Given the description of an element on the screen output the (x, y) to click on. 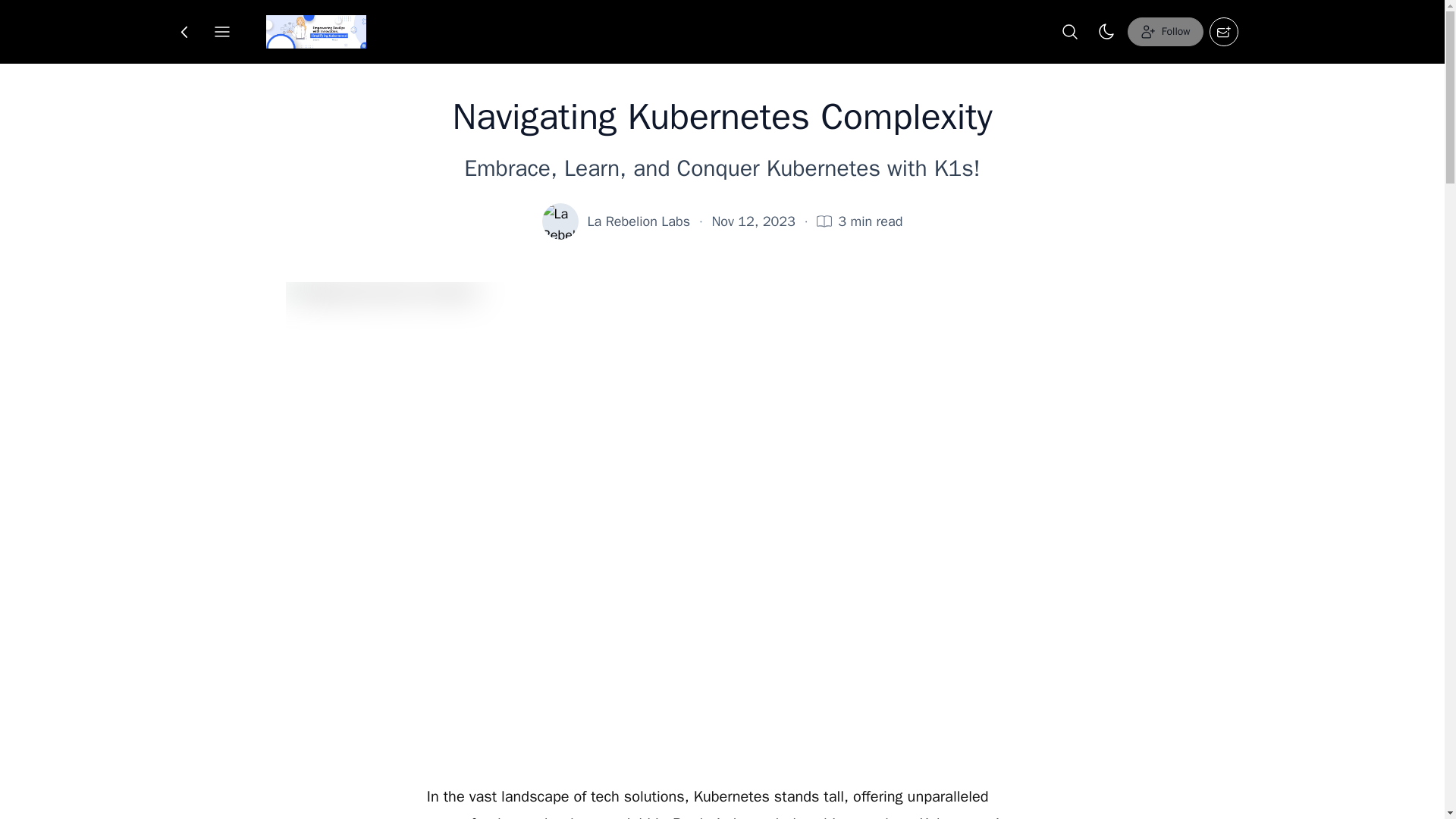
Follow (1165, 31)
Nov 12, 2023 (752, 220)
La Rebelion Labs (639, 220)
